Given the description of an element on the screen output the (x, y) to click on. 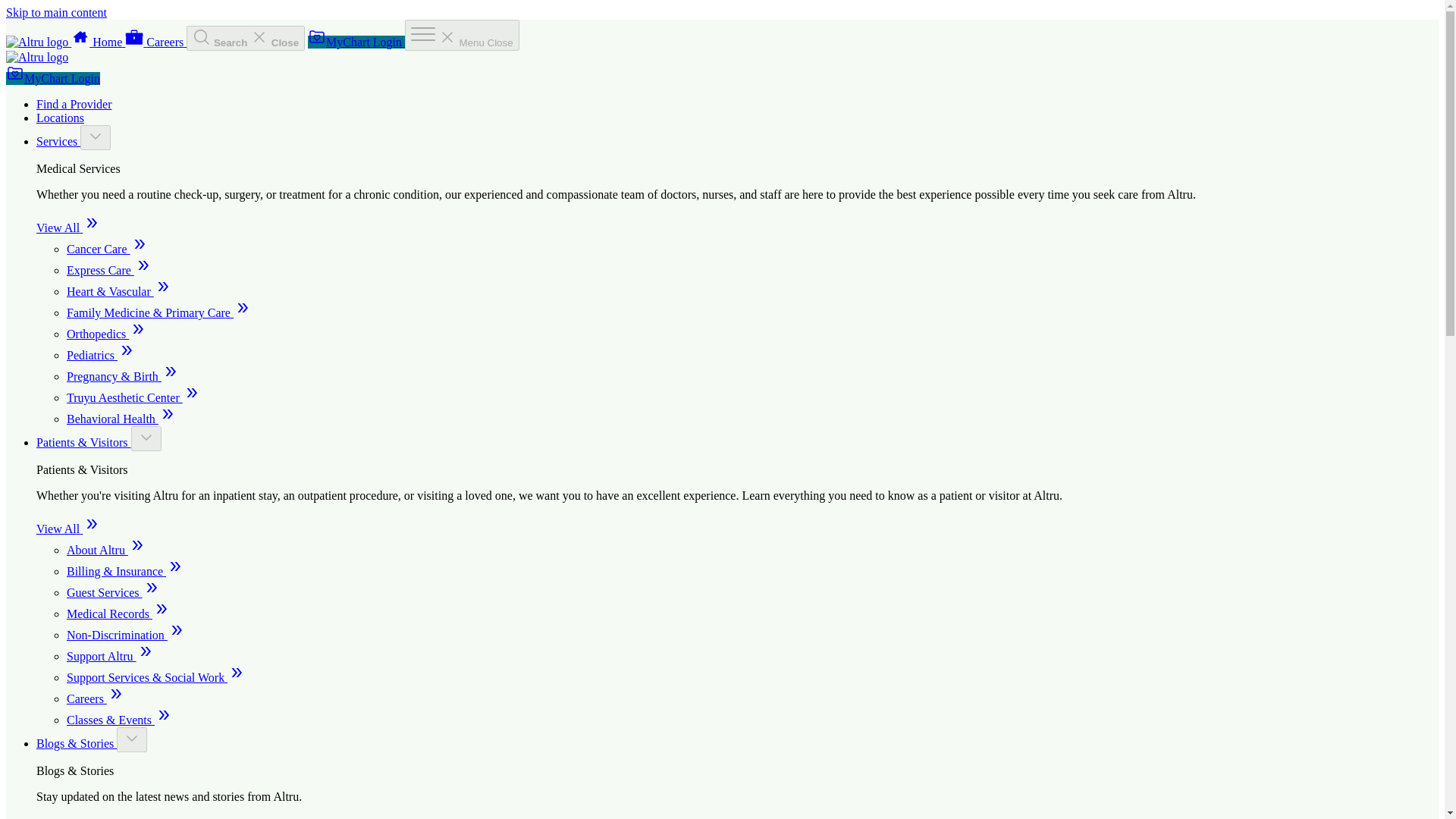
Home (98, 42)
Behavioral Health (121, 418)
View All (68, 227)
Locations (60, 117)
View All (68, 528)
About Altru (106, 549)
Orthopedics (106, 333)
Pediatrics (100, 354)
Find a Provider (74, 103)
Express Care (109, 269)
Search Close (245, 37)
MyChart Login (52, 78)
Non-Discrimination (126, 634)
Skip to main content (55, 11)
Truyu Aesthetic Center (133, 397)
